Given the description of an element on the screen output the (x, y) to click on. 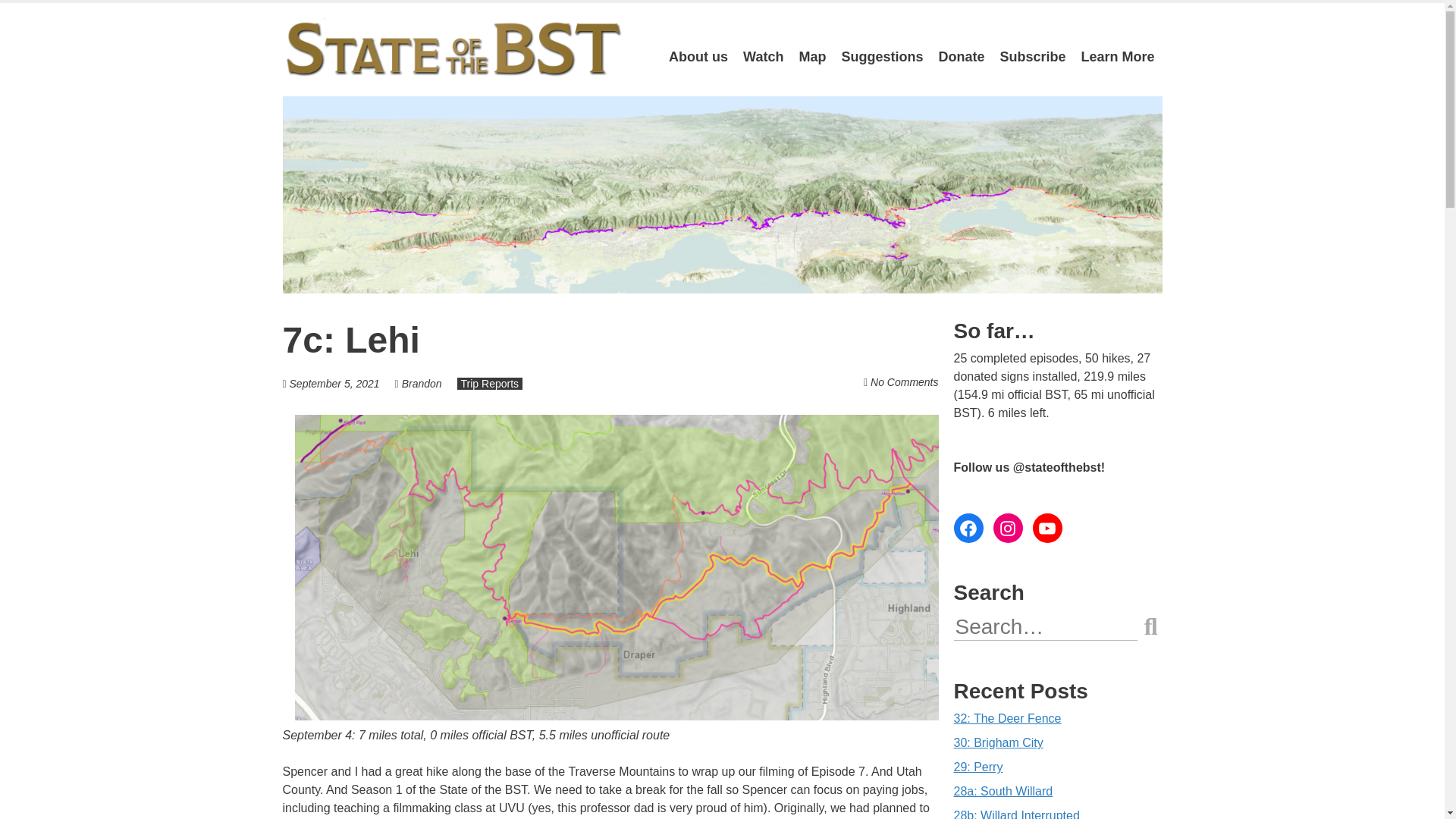
Subscribe (1032, 57)
facebook (968, 527)
About us (698, 57)
Permalink to 7c: Lehi (350, 340)
Trip Reports (489, 383)
Comment on 7c: Lehi (903, 381)
Watch (762, 57)
YouTube (1047, 527)
Instagram (1007, 527)
29: Perry (978, 766)
